Given the description of an element on the screen output the (x, y) to click on. 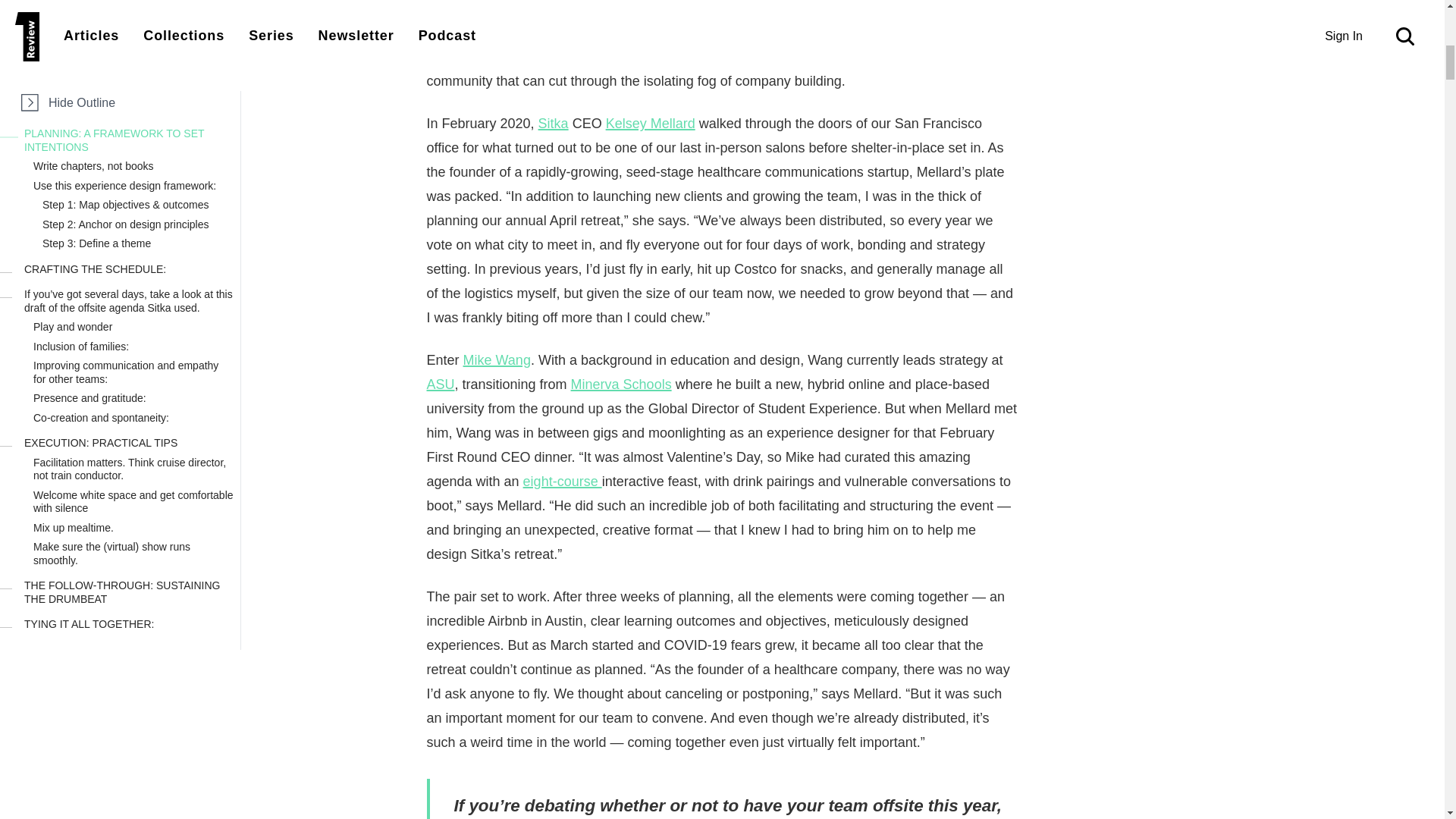
Step 3: Define a theme (138, 86)
Presence and gratitude: (133, 241)
Use this experience design framework: (133, 29)
CRAFTING THE SCHEDULE: (129, 112)
THE FOLLOW-THROUGH: SUSTAINING THE DRUMBEAT (129, 435)
Play and wonder (133, 170)
EXECUTION: PRACTICAL TIPS (129, 286)
Write chapters, not books (133, 9)
Improving communication and empathy for other teams: (133, 215)
Step 2: Anchor on design principles (138, 67)
